Given the description of an element on the screen output the (x, y) to click on. 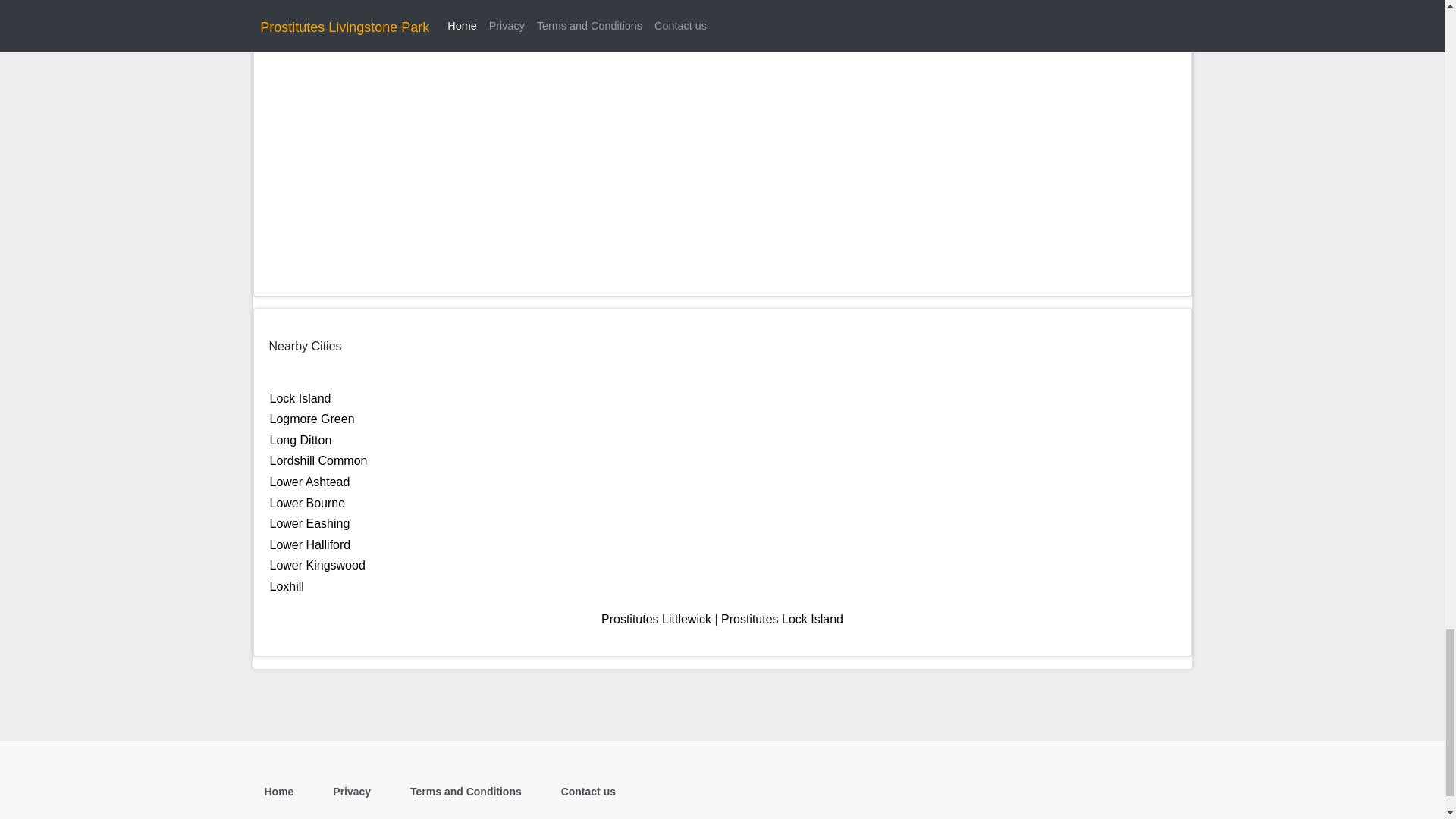
Lower Eashing (309, 522)
Lower Bourne (307, 502)
Prostitutes Lock Island (781, 618)
Long Ditton (300, 440)
Logmore Green (312, 418)
Lock Island (300, 398)
Lordshill Common (318, 460)
Lower Halliford (309, 544)
Lower Ashtead (309, 481)
Lower Kingswood (317, 564)
Loxhill (286, 585)
Prostitutes Littlewick (656, 618)
